Given the description of an element on the screen output the (x, y) to click on. 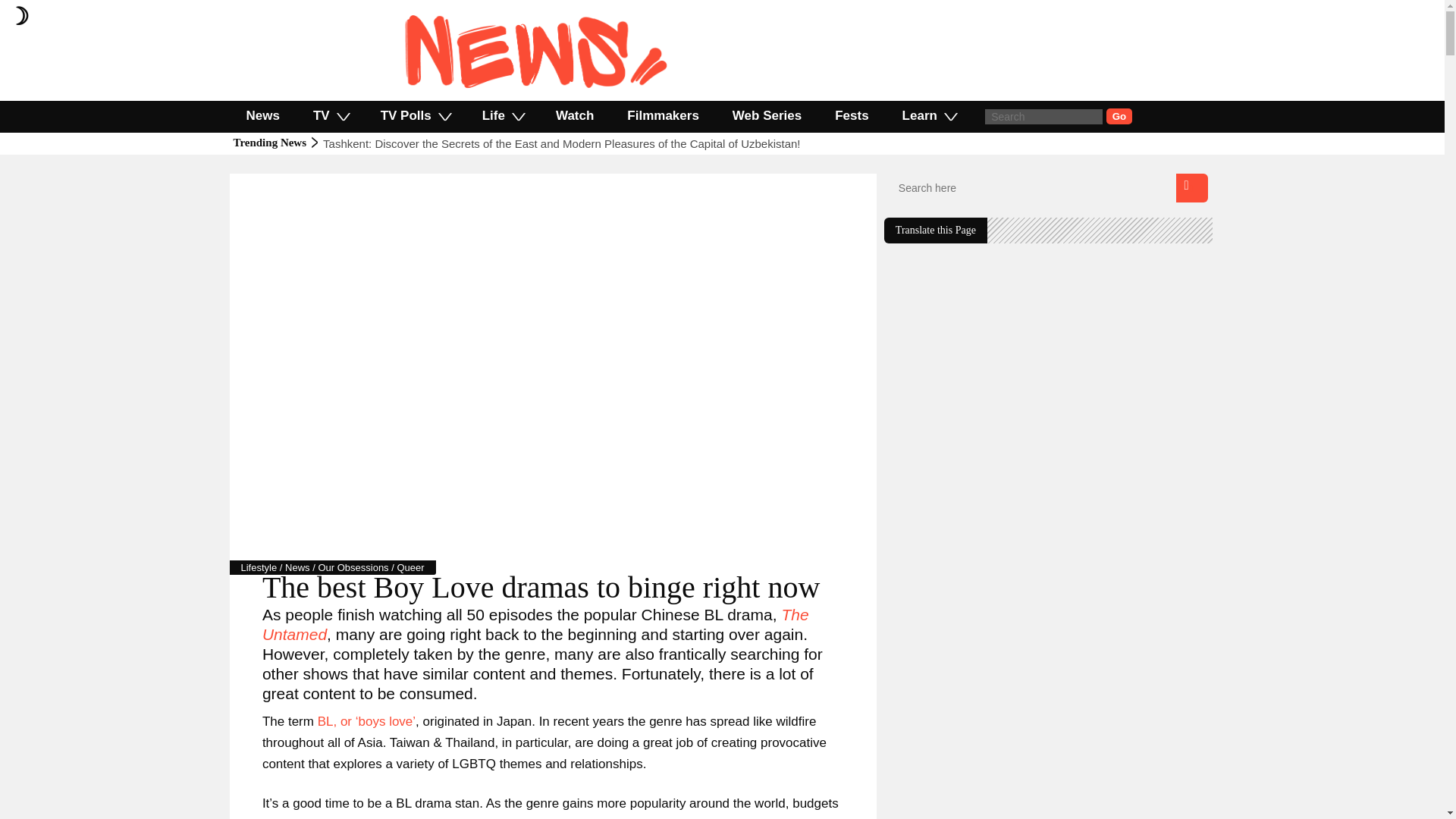
Filmmakers (663, 115)
Go (1119, 116)
Watch (574, 115)
Fests (851, 115)
Life (501, 115)
Lifestyle (259, 567)
TV Polls (414, 115)
Go (1119, 116)
News (261, 115)
